Given the description of an element on the screen output the (x, y) to click on. 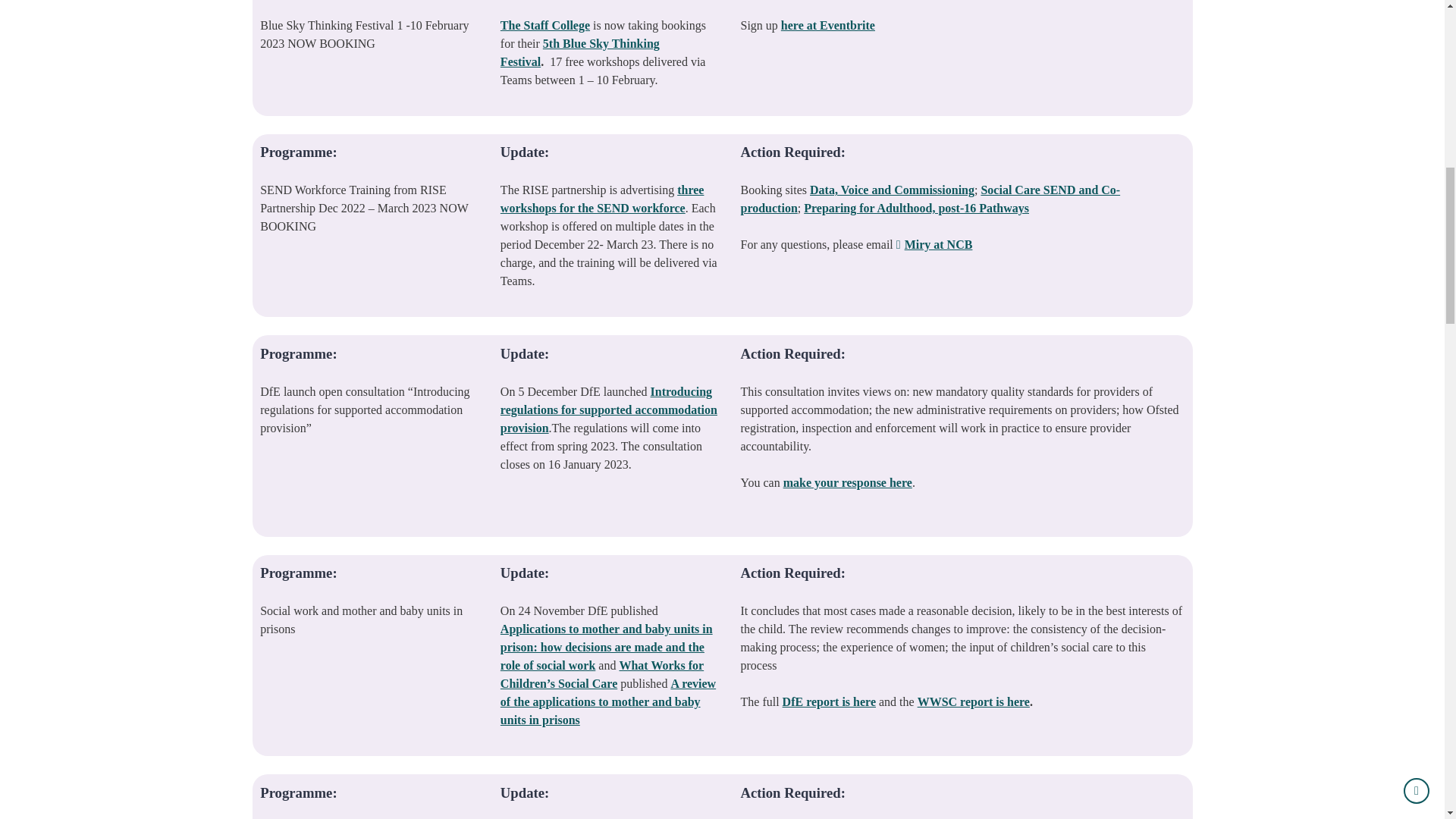
RISE SEND Workforce training Dec 22 - Mar 23 (602, 198)
The Staff College Blue Sky Thinking Festival (579, 51)
Email address for Miry Maher at NCB (934, 244)
Home page for The Staff College (544, 24)
Home Page for What Works for Children's Social Care (601, 674)
